Given the description of an element on the screen output the (x, y) to click on. 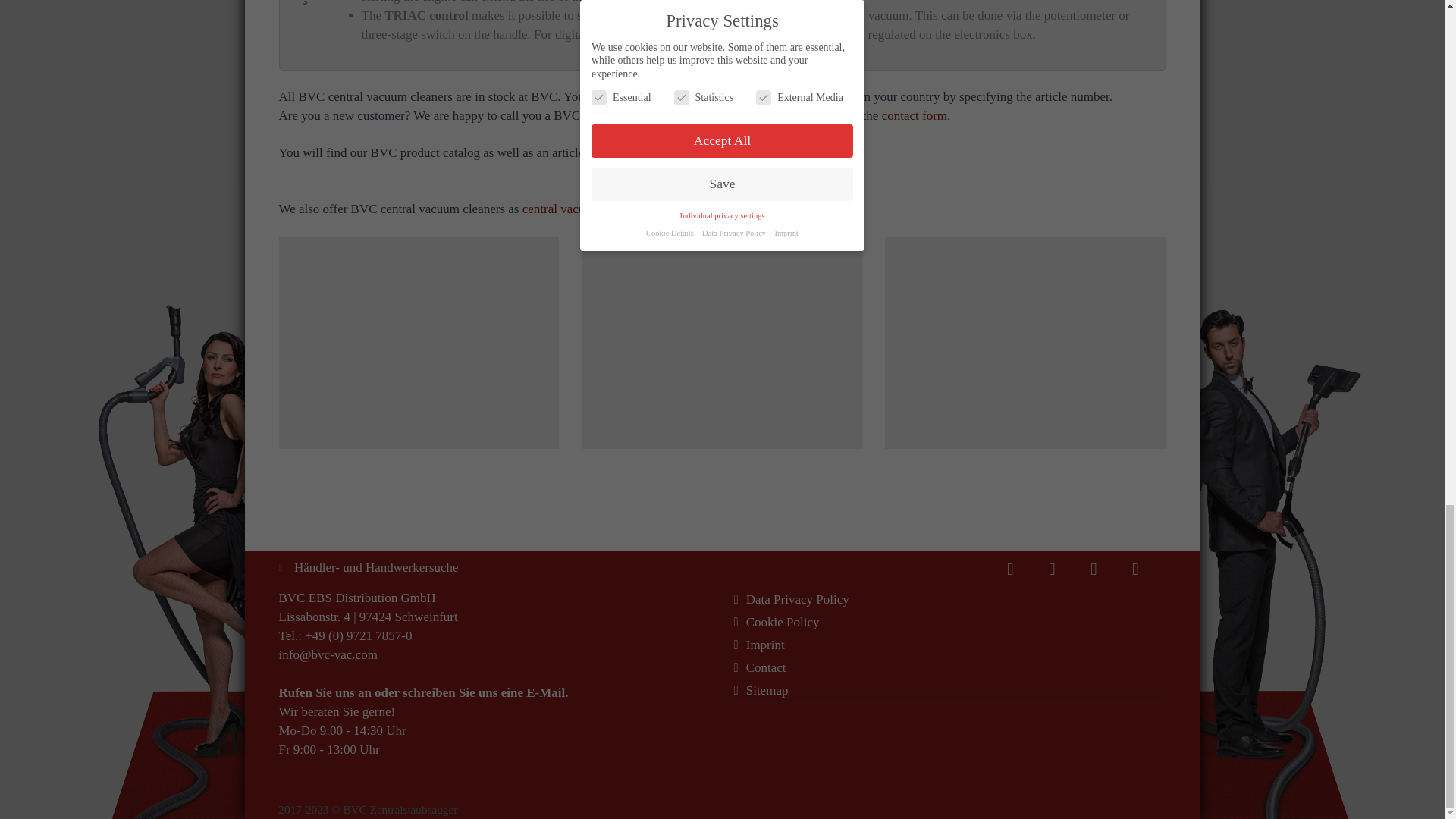
BVC BLACKLINE 8 (418, 342)
BVC BLACKLINE 9 (721, 342)
BVC BLACKLINE 10 (1024, 342)
